Given the description of an element on the screen output the (x, y) to click on. 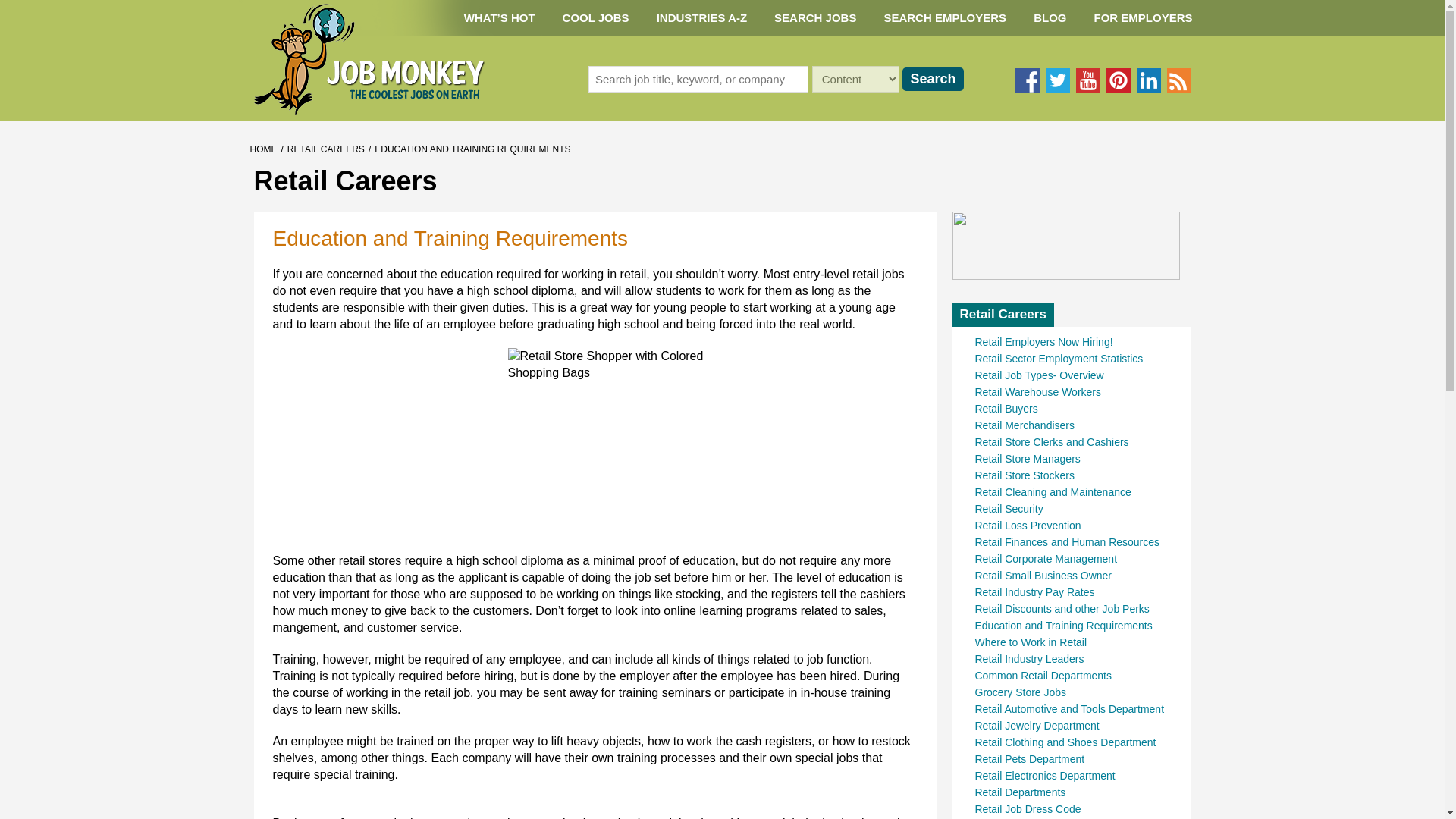
Connect with us on LinkedIn (1147, 79)
Follow us on Pinterest (1117, 79)
Subscribe to our blog (1178, 79)
Follow us on YouTube (1087, 79)
Search (932, 78)
Go to JobMonkey. (264, 149)
BLOG (1050, 18)
Follow us on Facebook (1026, 79)
Follow us on Twitter (1056, 79)
SEARCH JOBS (814, 18)
